Given the description of an element on the screen output the (x, y) to click on. 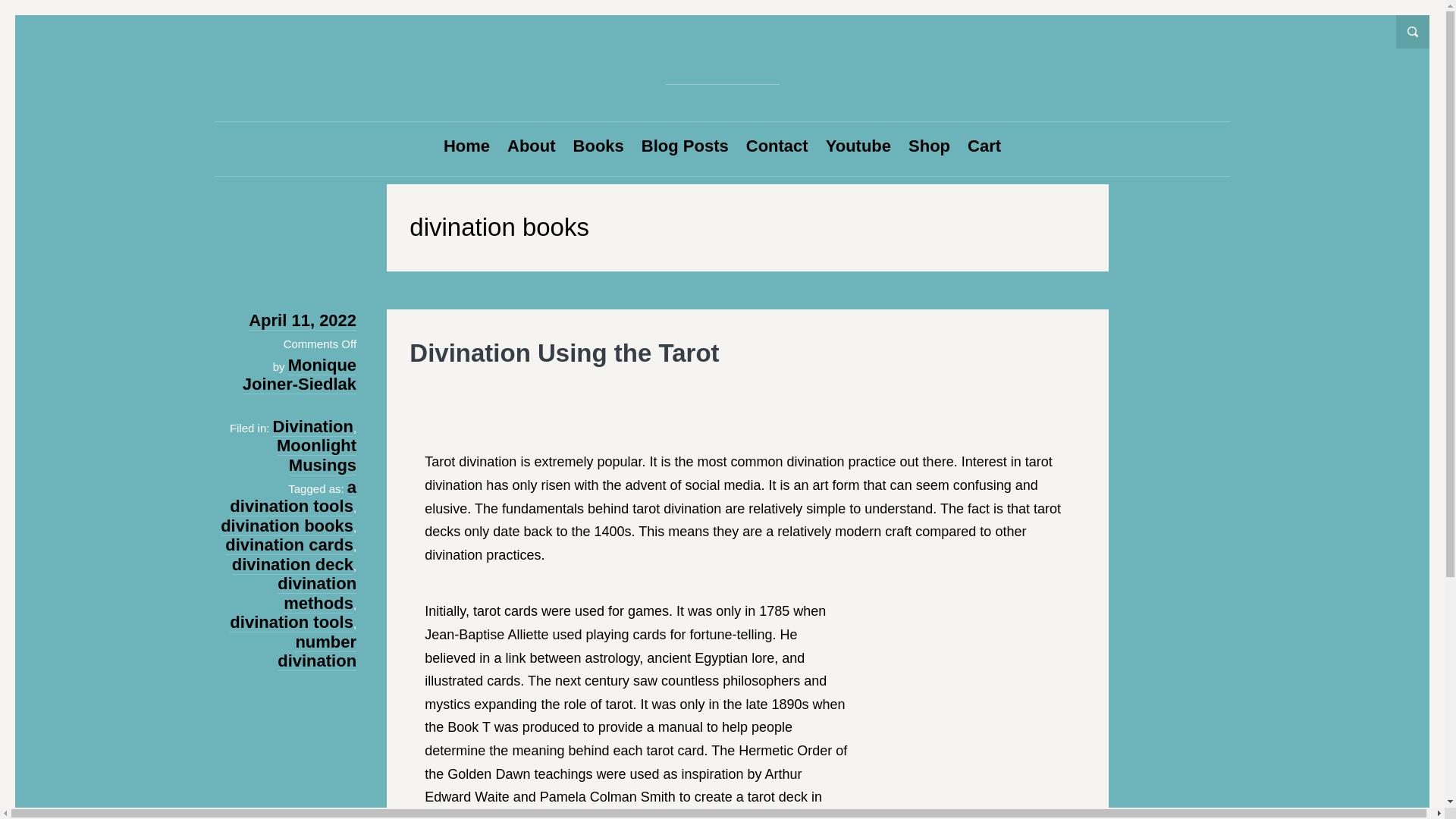
Search (55, 22)
Divination (313, 426)
Blog Posts (685, 145)
Contact (776, 145)
Books (598, 145)
Youtube (858, 145)
Open Search (1412, 31)
April 11, 2022 (302, 320)
About (531, 145)
Divination Using the Tarot - Continue reading (564, 352)
